Given the description of an element on the screen output the (x, y) to click on. 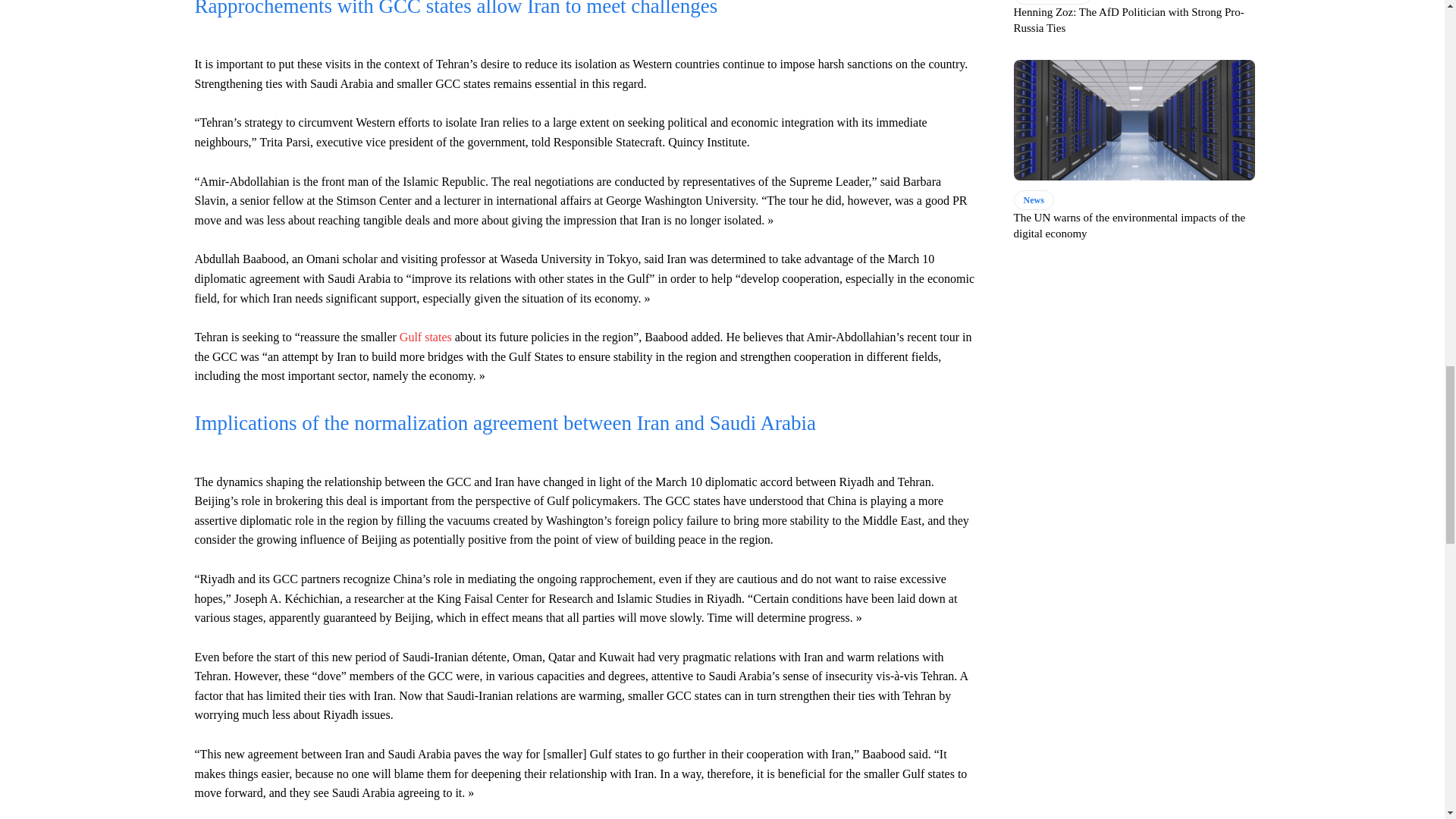
Gulf states (423, 336)
